Given the description of an element on the screen output the (x, y) to click on. 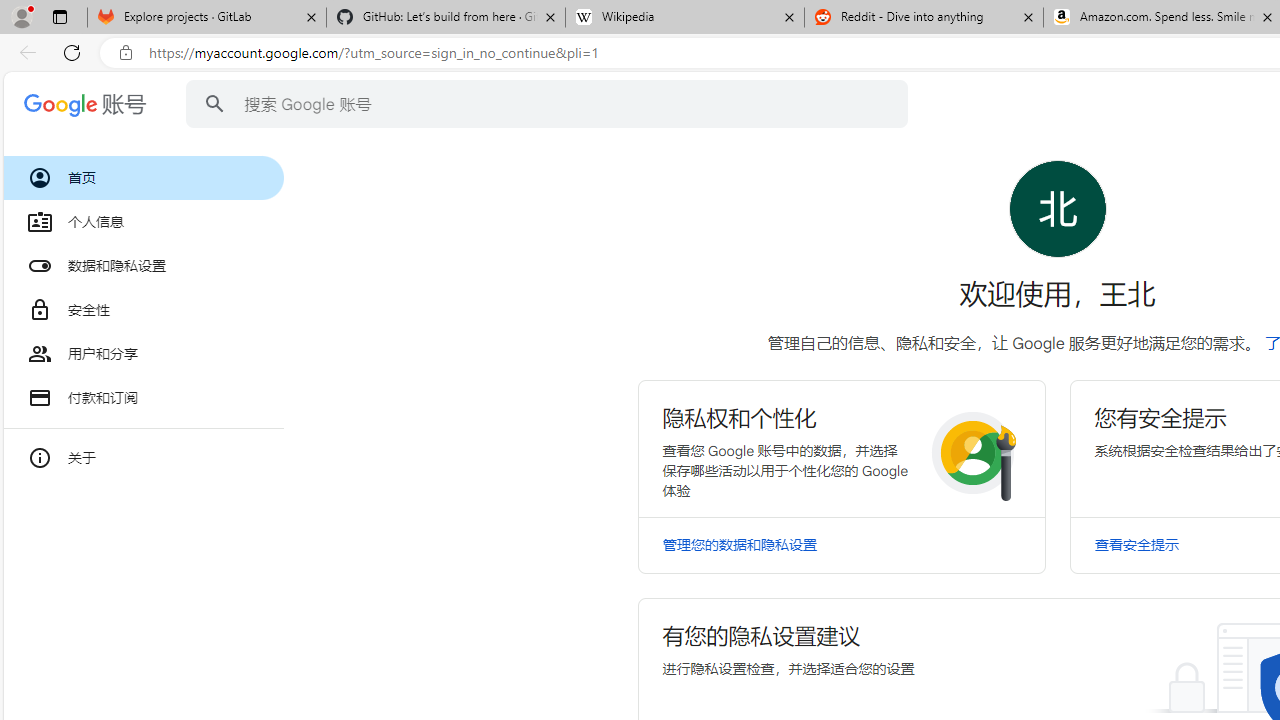
Class: RlFDUe N5YmOc kJXJmd bvW4md I6g62c (840, 448)
